Given the description of an element on the screen output the (x, y) to click on. 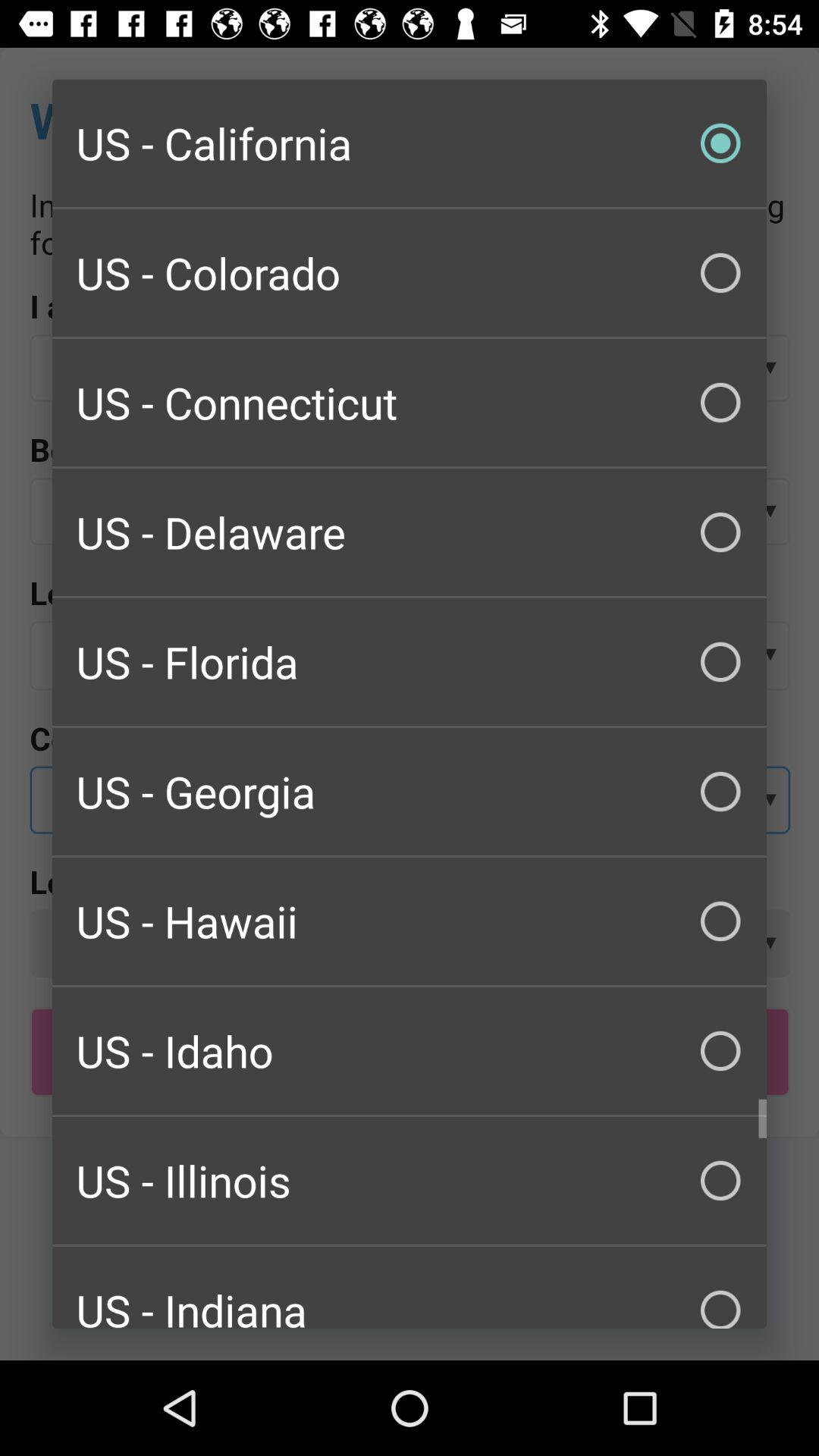
launch the item above us - delaware item (409, 402)
